Given the description of an element on the screen output the (x, y) to click on. 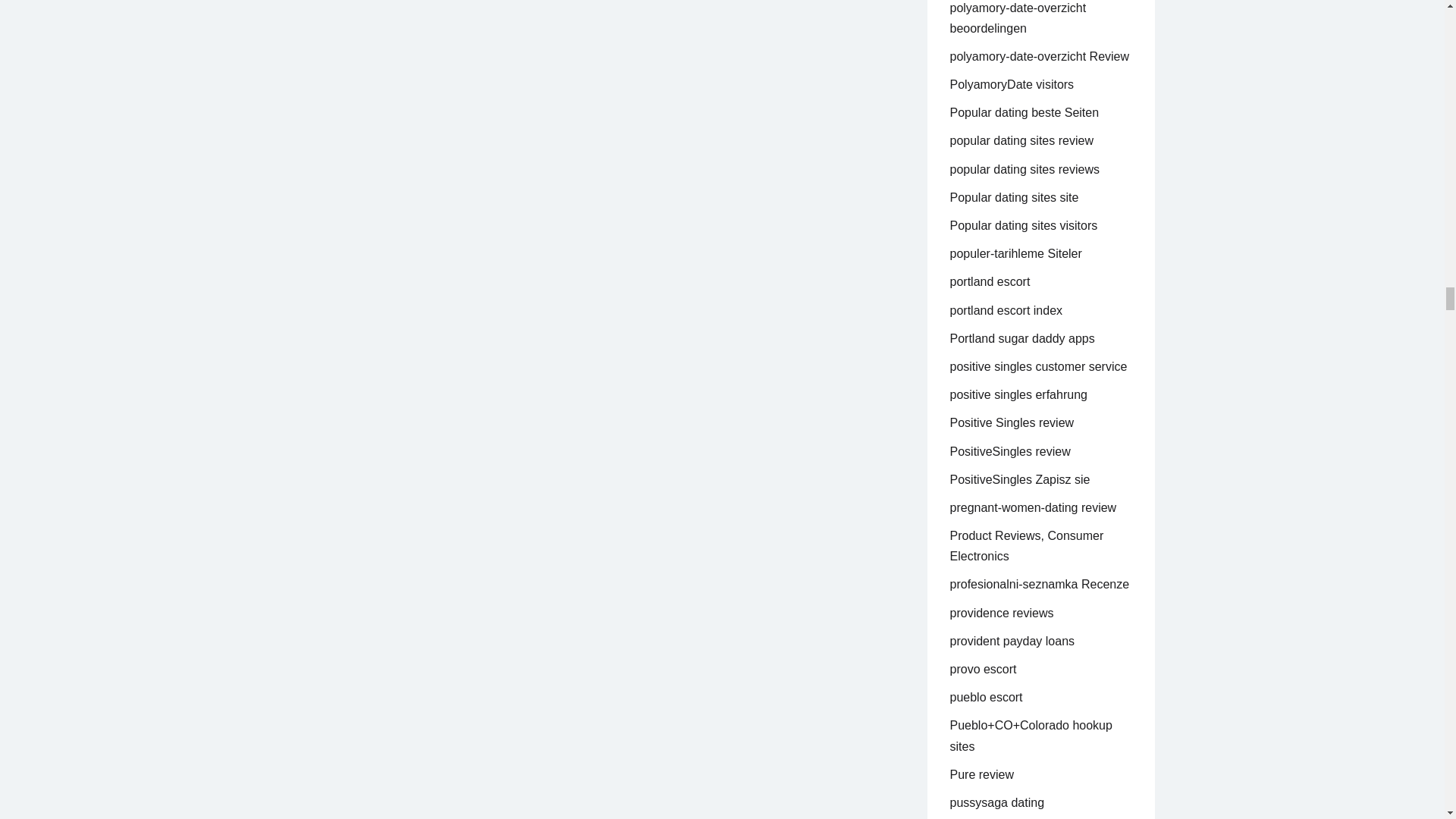
Product Reviews, Consumer Electronics (1026, 545)
